Given the description of an element on the screen output the (x, y) to click on. 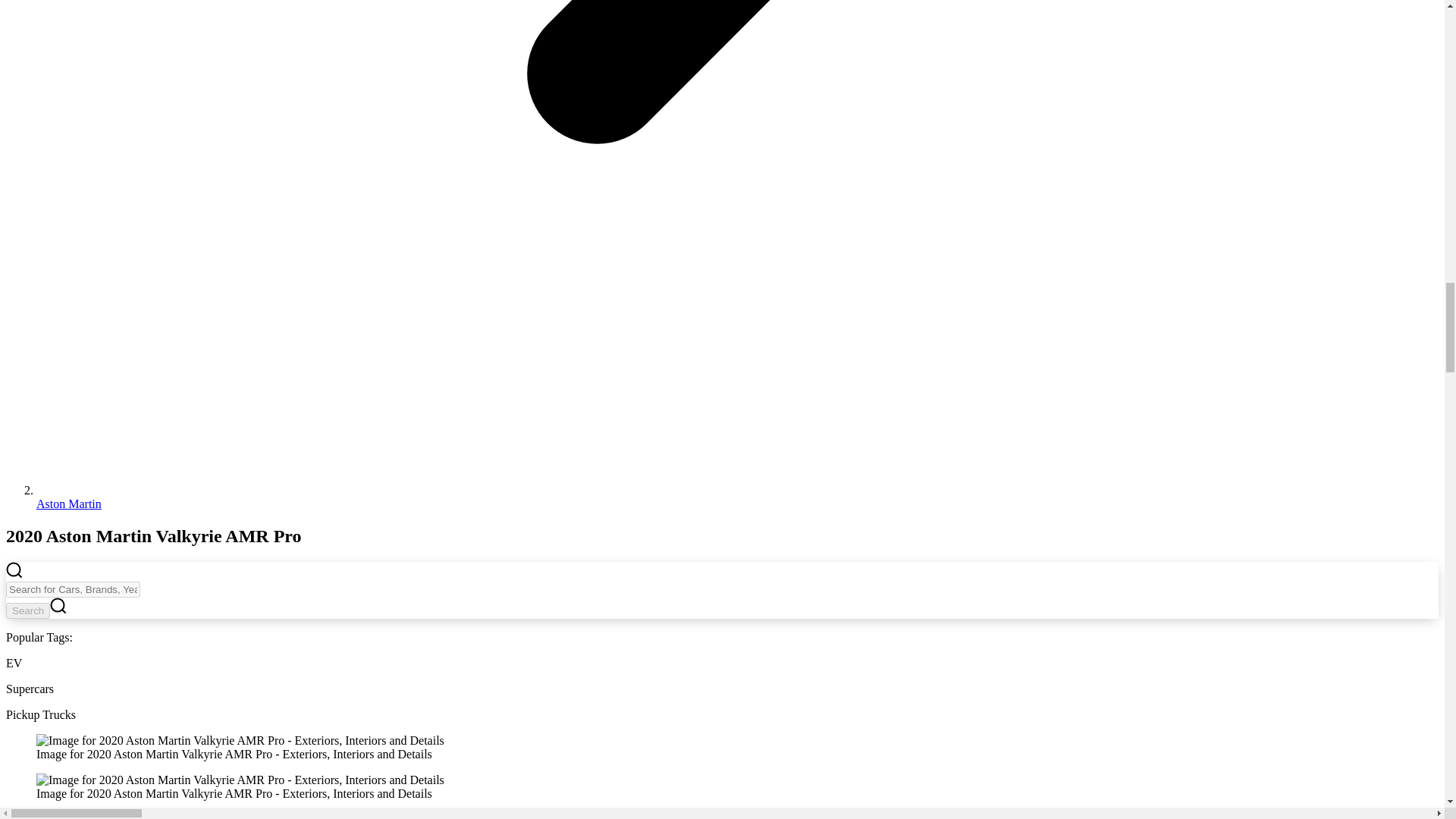
Aston Martin (68, 503)
Search (27, 610)
